Given the description of an element on the screen output the (x, y) to click on. 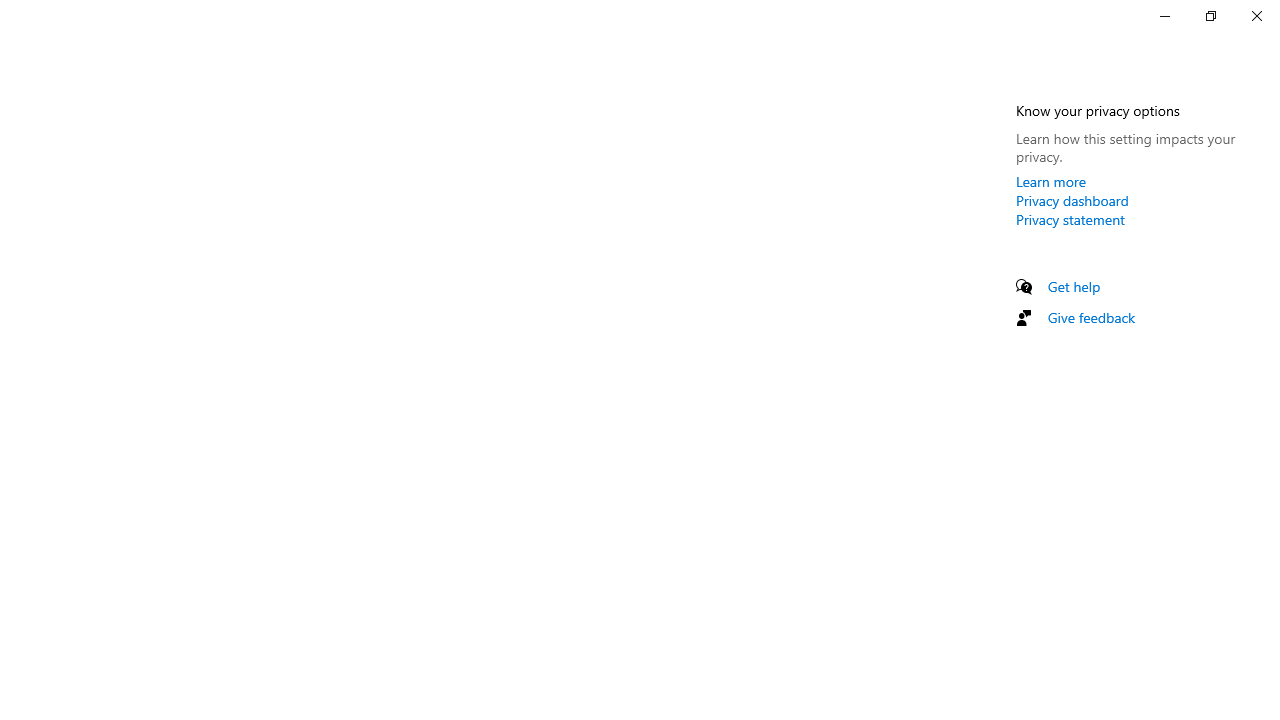
Give feedback (1091, 317)
Close Settings (1256, 15)
Privacy dashboard (1072, 200)
Restore Settings (1210, 15)
Privacy statement (1070, 219)
Minimize Settings (1164, 15)
Learn more (1051, 181)
Get help (1074, 286)
